Given the description of an element on the screen output the (x, y) to click on. 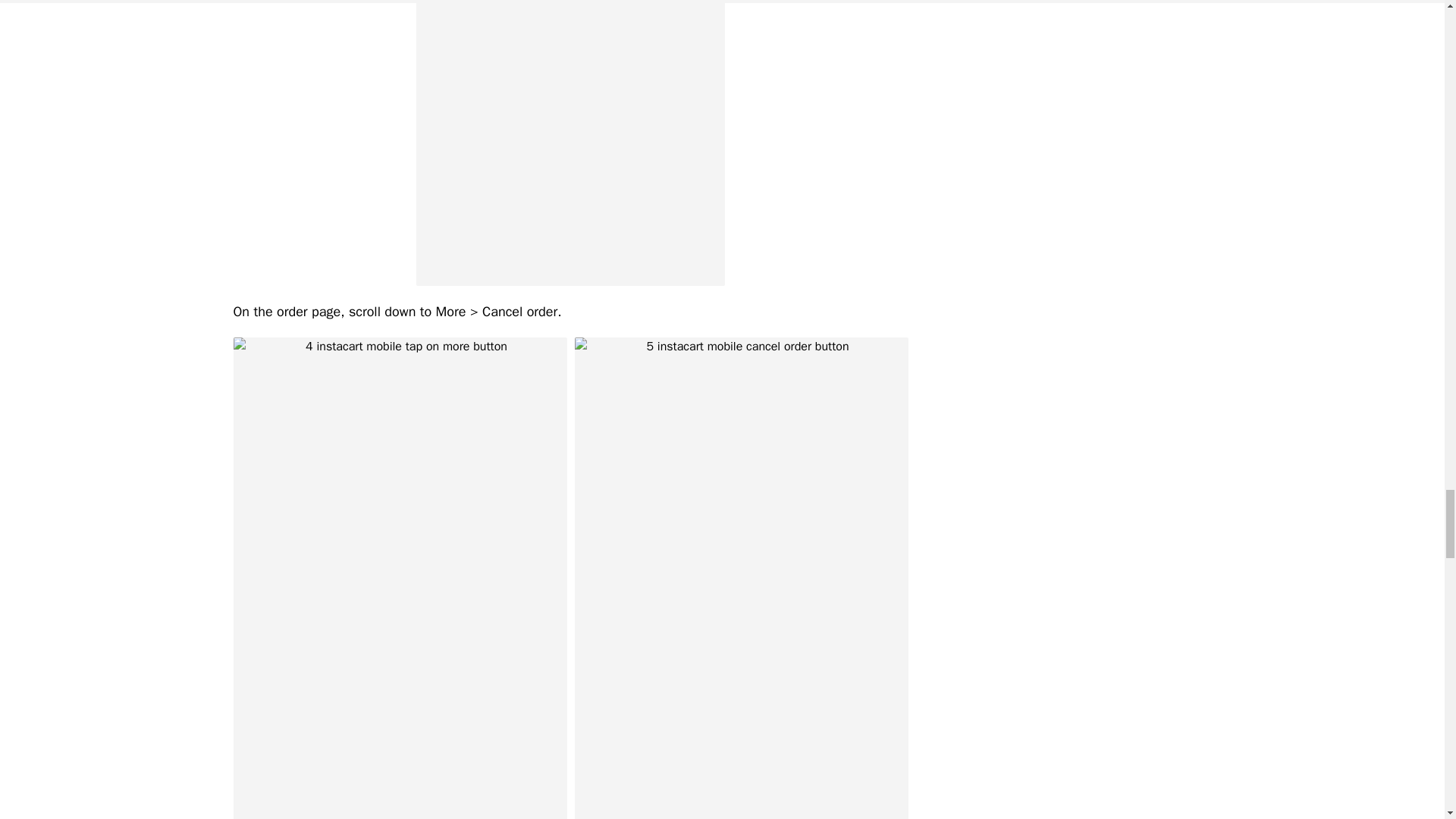
3 instacart mobile tap on unsent order (570, 142)
